Given the description of an element on the screen output the (x, y) to click on. 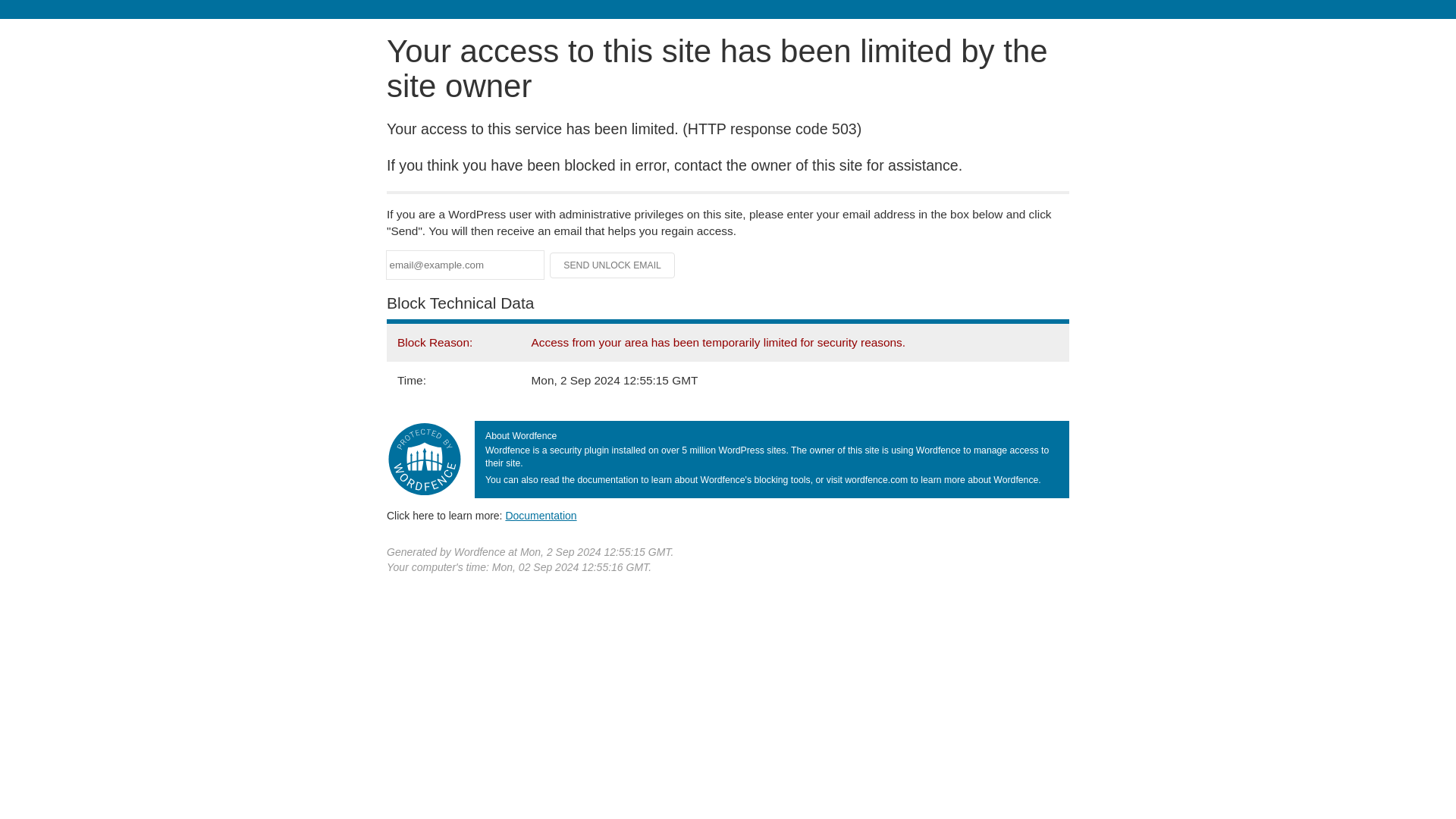
Send Unlock Email (612, 265)
Documentation (540, 515)
Send Unlock Email (612, 265)
